Given the description of an element on the screen output the (x, y) to click on. 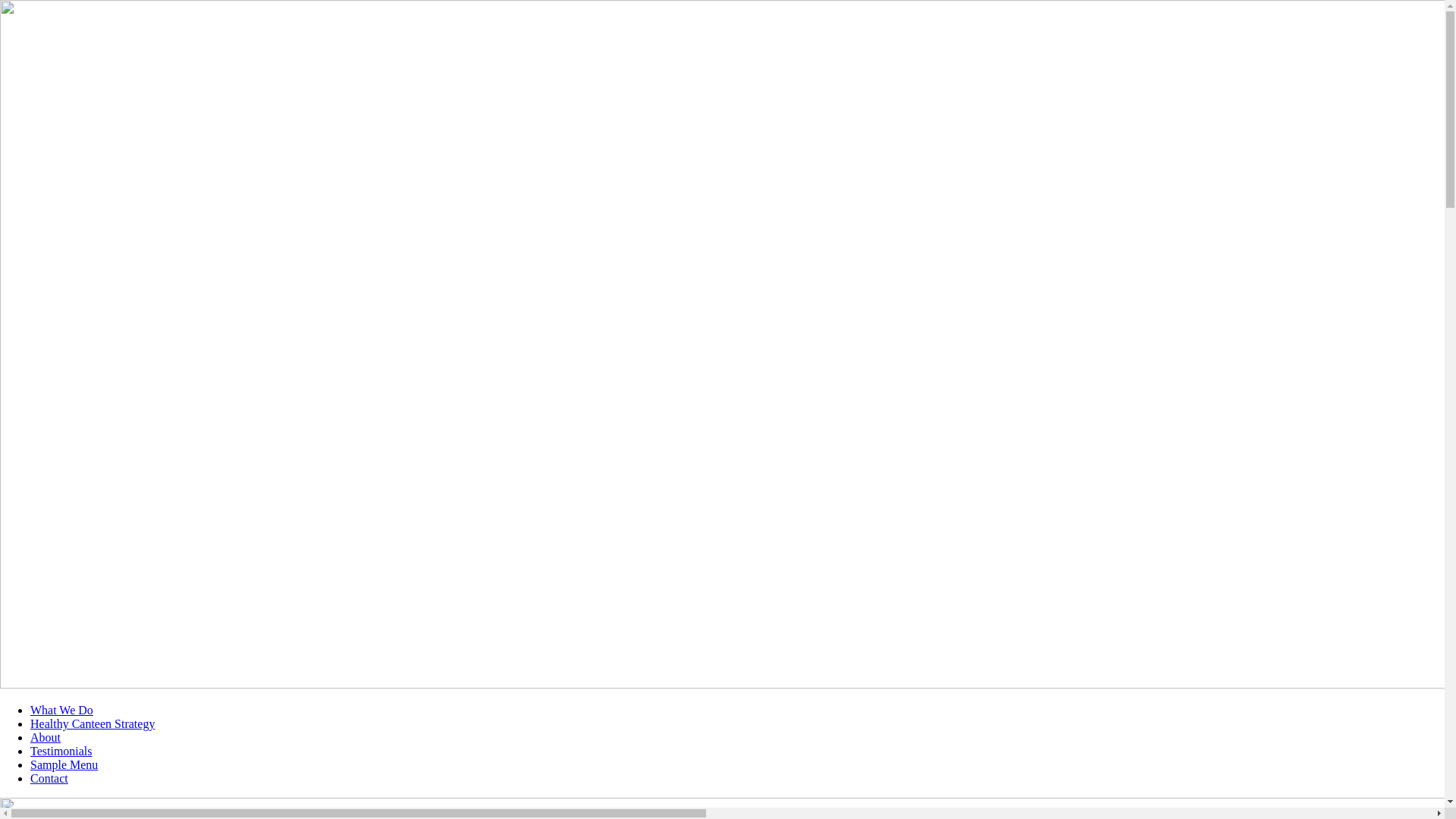
Contact Element type: text (49, 777)
Testimonials Element type: text (61, 750)
What We Do Element type: text (61, 709)
Healthy Canteen Strategy Element type: text (92, 723)
About Element type: text (45, 737)
Sample Menu Element type: text (63, 764)
